Given the description of an element on the screen output the (x, y) to click on. 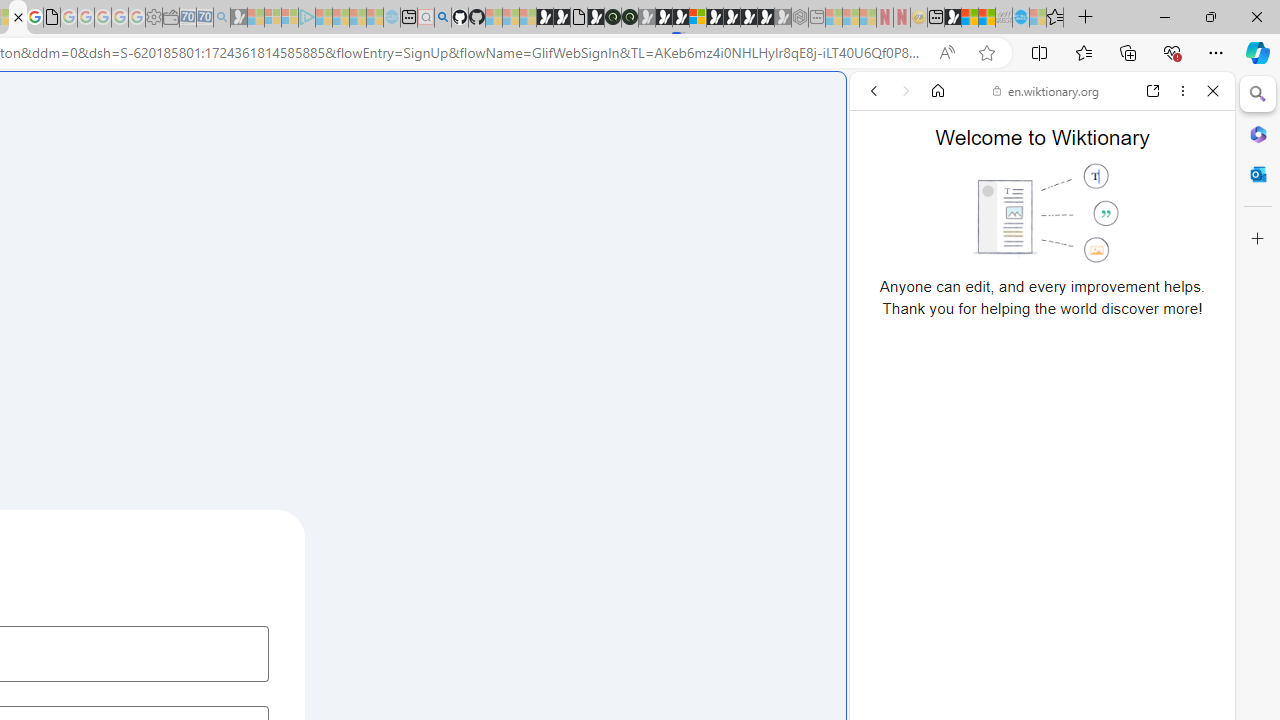
en.wiktionary.org (1046, 90)
